Given the description of an element on the screen output the (x, y) to click on. 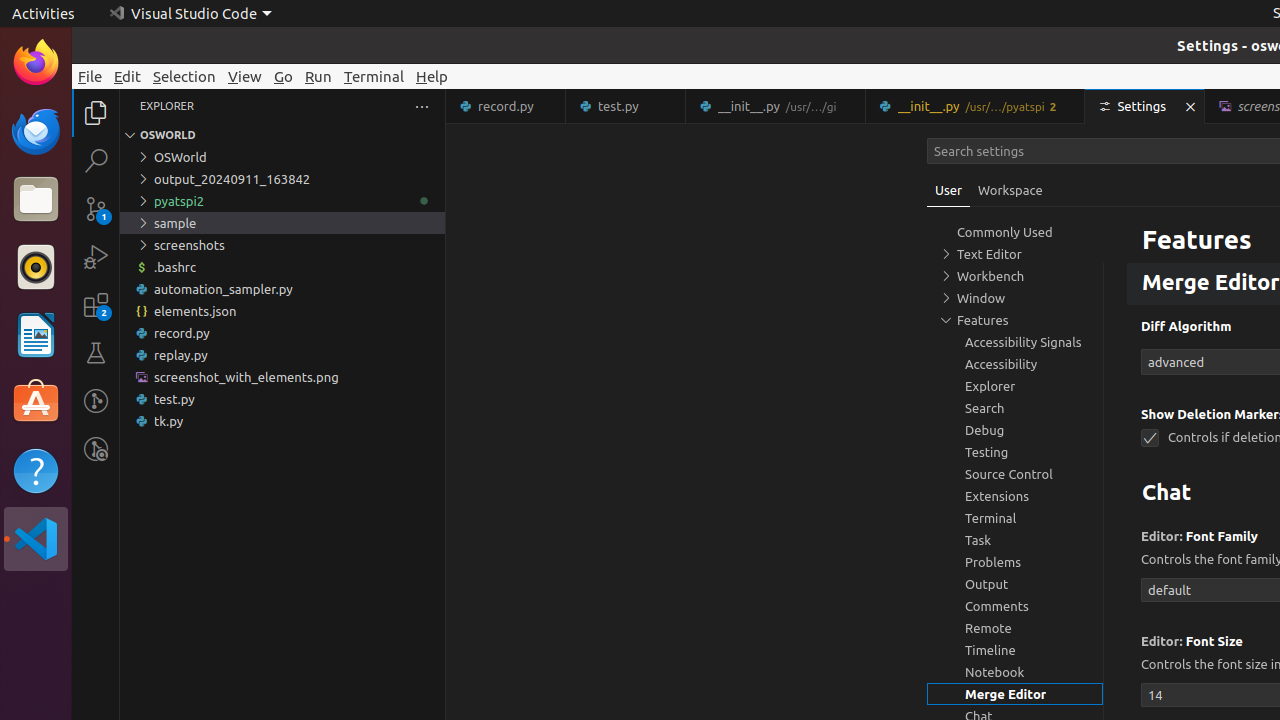
Testing Element type: page-tab (96, 353)
Source Control, group Element type: tree-item (1015, 474)
Remote, group Element type: tree-item (1015, 628)
Explorer Section: osworld Element type: push-button (282, 135)
record.py Element type: tree-item (282, 333)
